Given the description of an element on the screen output the (x, y) to click on. 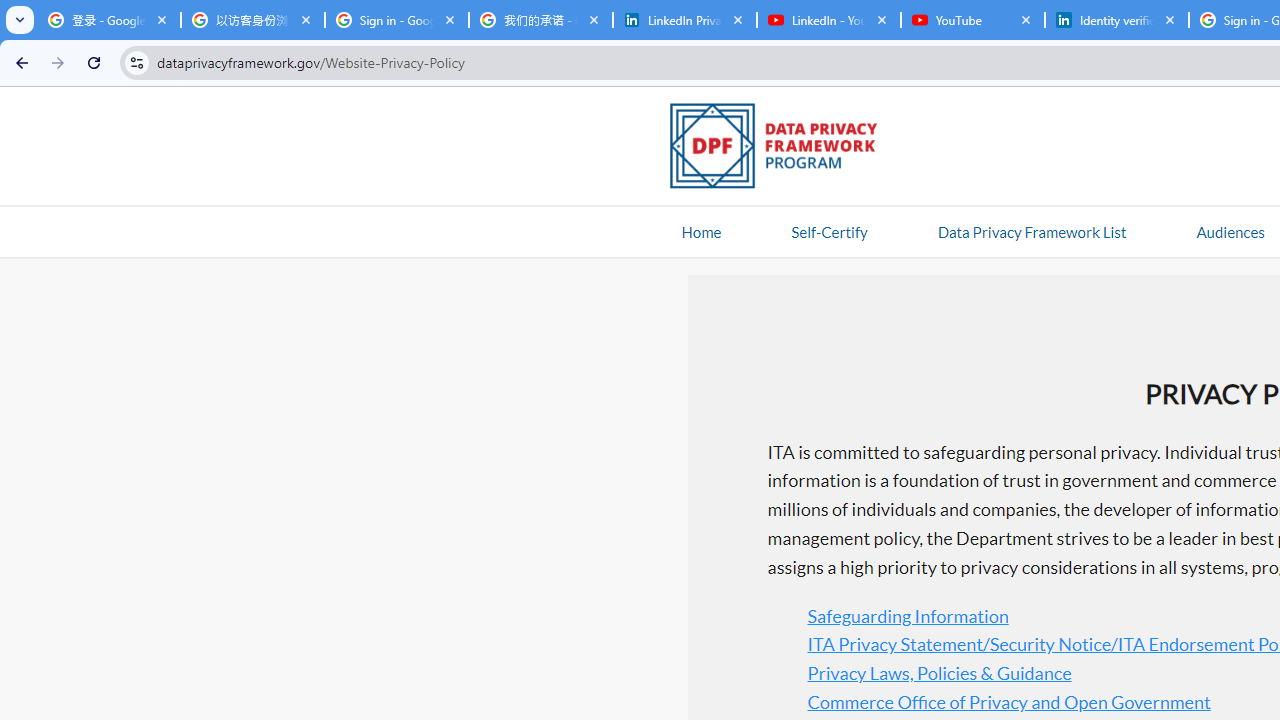
AutomationID: navitem (1230, 231)
LinkedIn Privacy Policy (684, 20)
Commerce Office of Privacy and Open Government (1008, 700)
Safeguarding Information (907, 615)
Sign in - Google Accounts (396, 20)
